Given the description of an element on the screen output the (x, y) to click on. 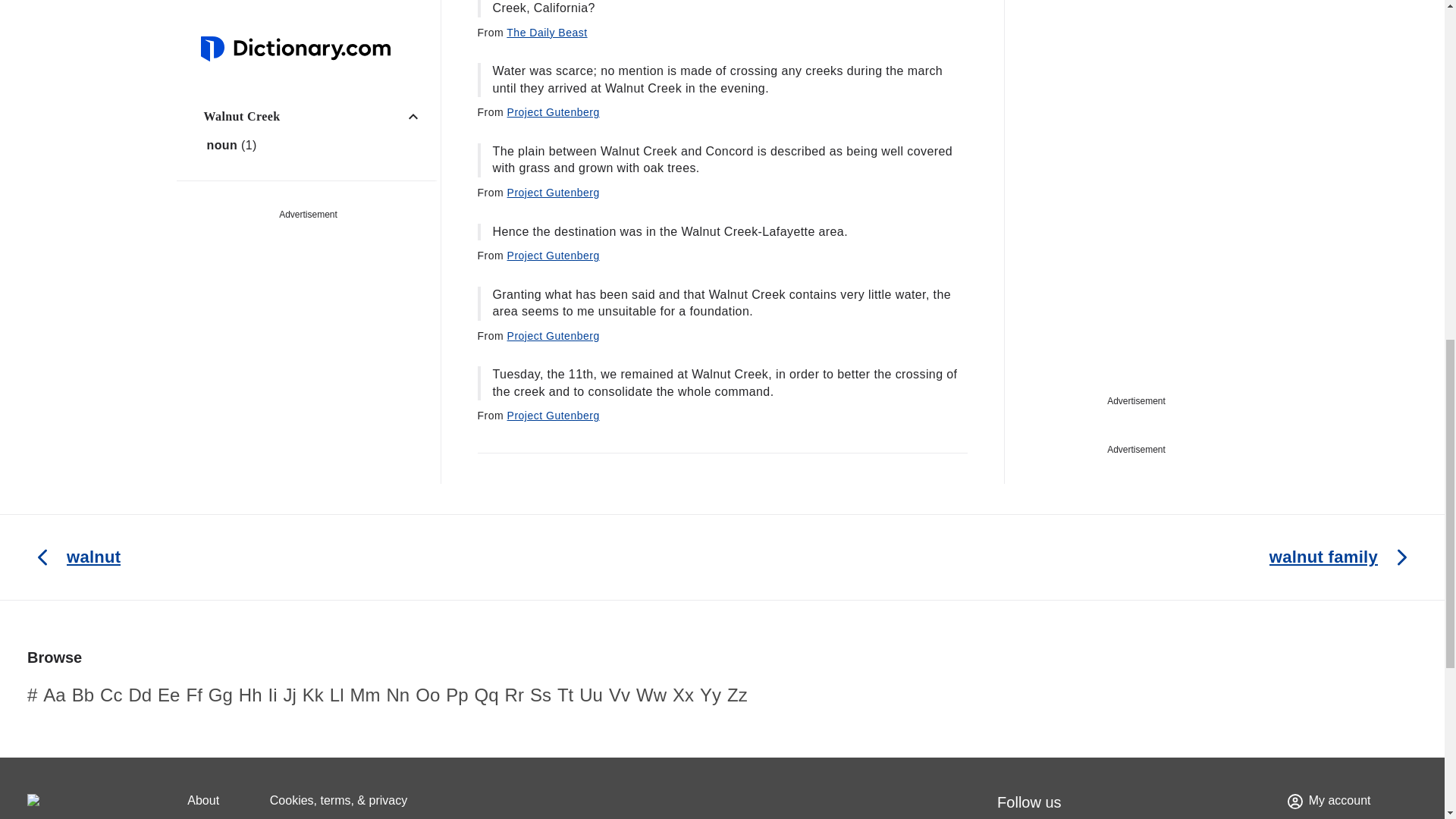
The Daily Beast (546, 32)
Project Gutenberg (552, 255)
Project Gutenberg (552, 192)
Project Gutenberg (552, 111)
